Given the description of an element on the screen output the (x, y) to click on. 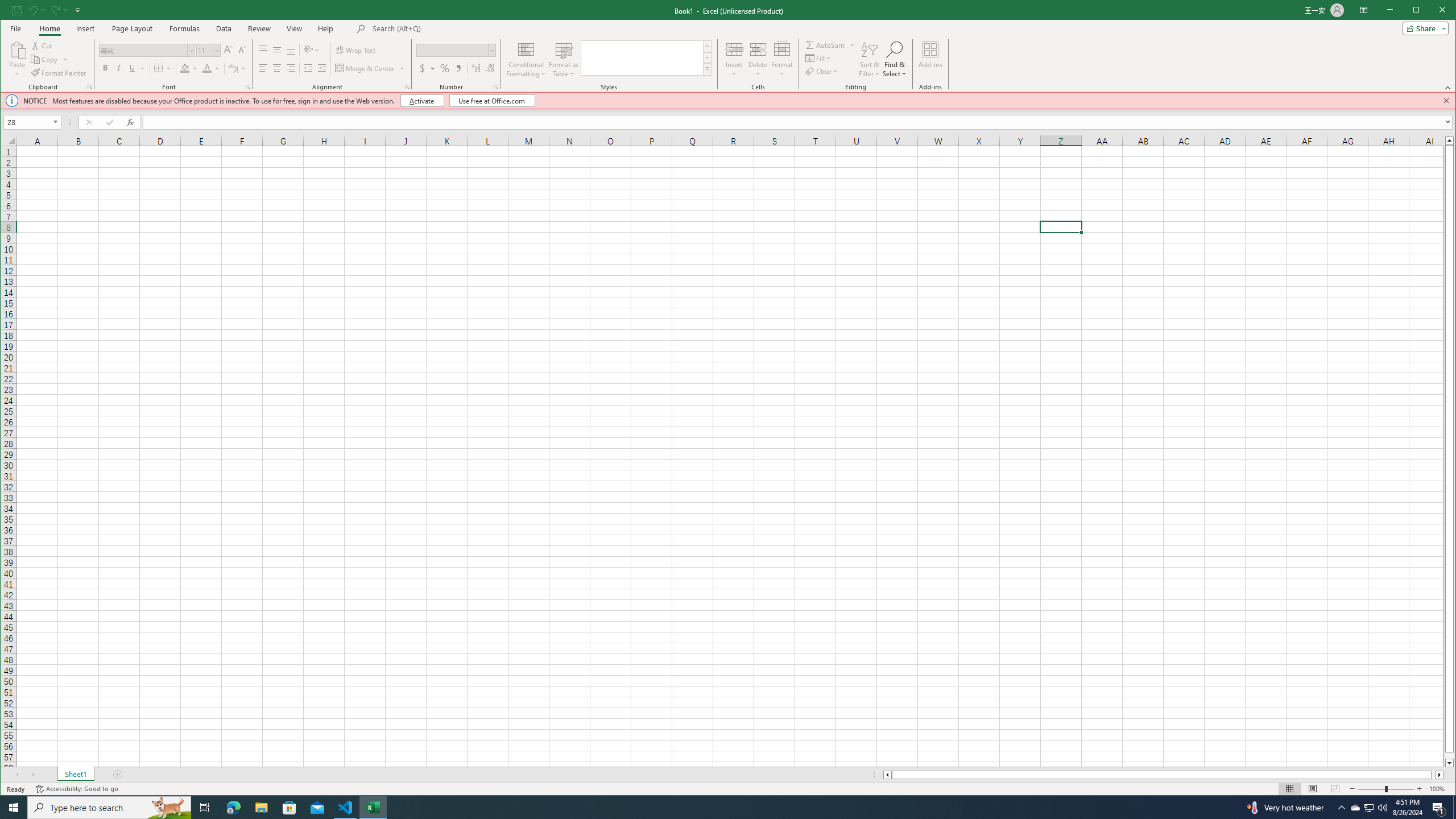
Very hot weather (1284, 807)
Sort & Filter (868, 59)
Number Format (451, 50)
Decrease Decimal (489, 68)
Fill (818, 57)
Activate (422, 100)
Sum (825, 44)
